Given the description of an element on the screen output the (x, y) to click on. 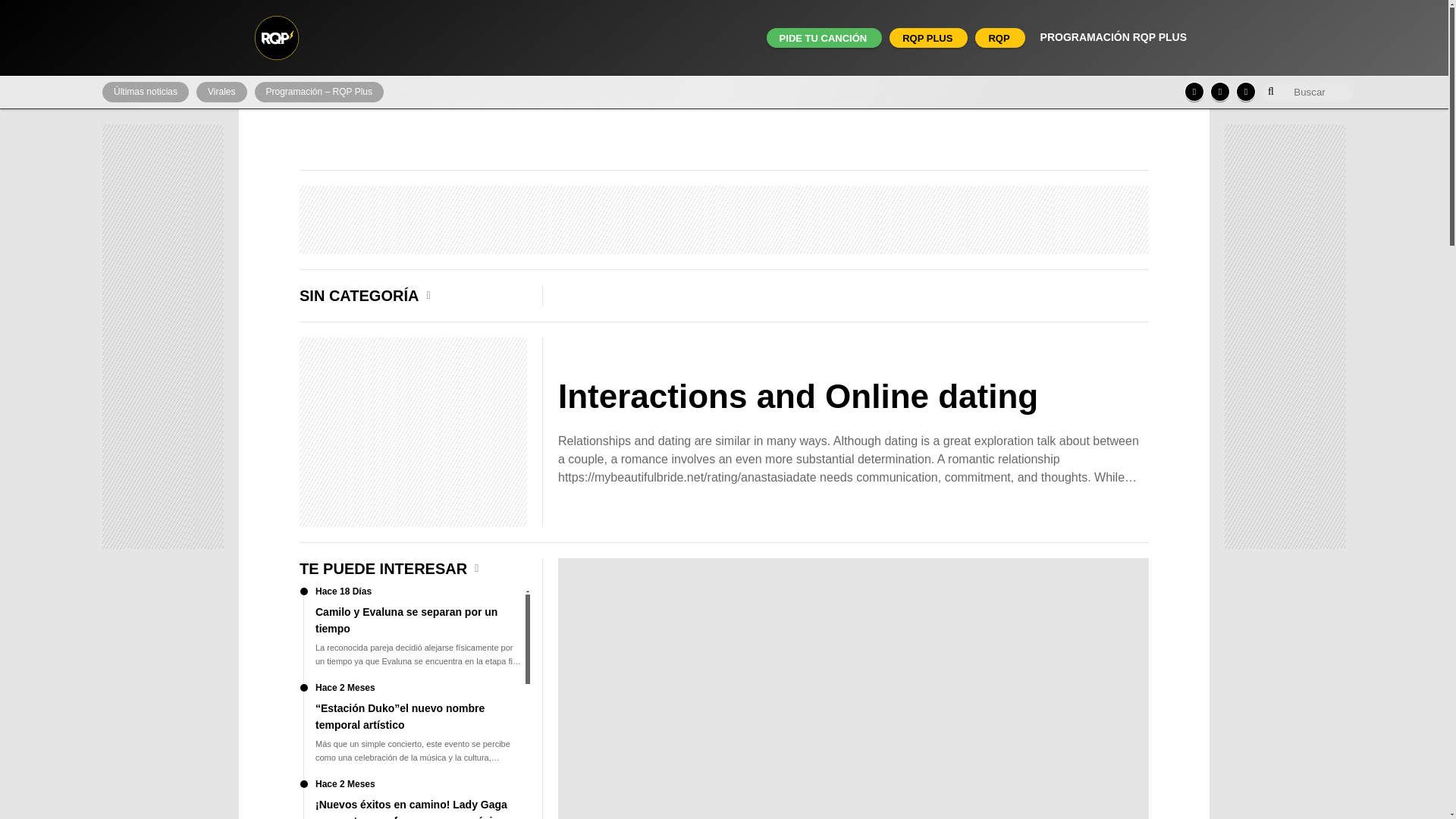
RQP (997, 37)
Virales (221, 91)
RQP PLUS (927, 37)
RQP - Bolivia (276, 37)
Camilo y Evaluna se separan por un tiempo (413, 635)
